Given the description of an element on the screen output the (x, y) to click on. 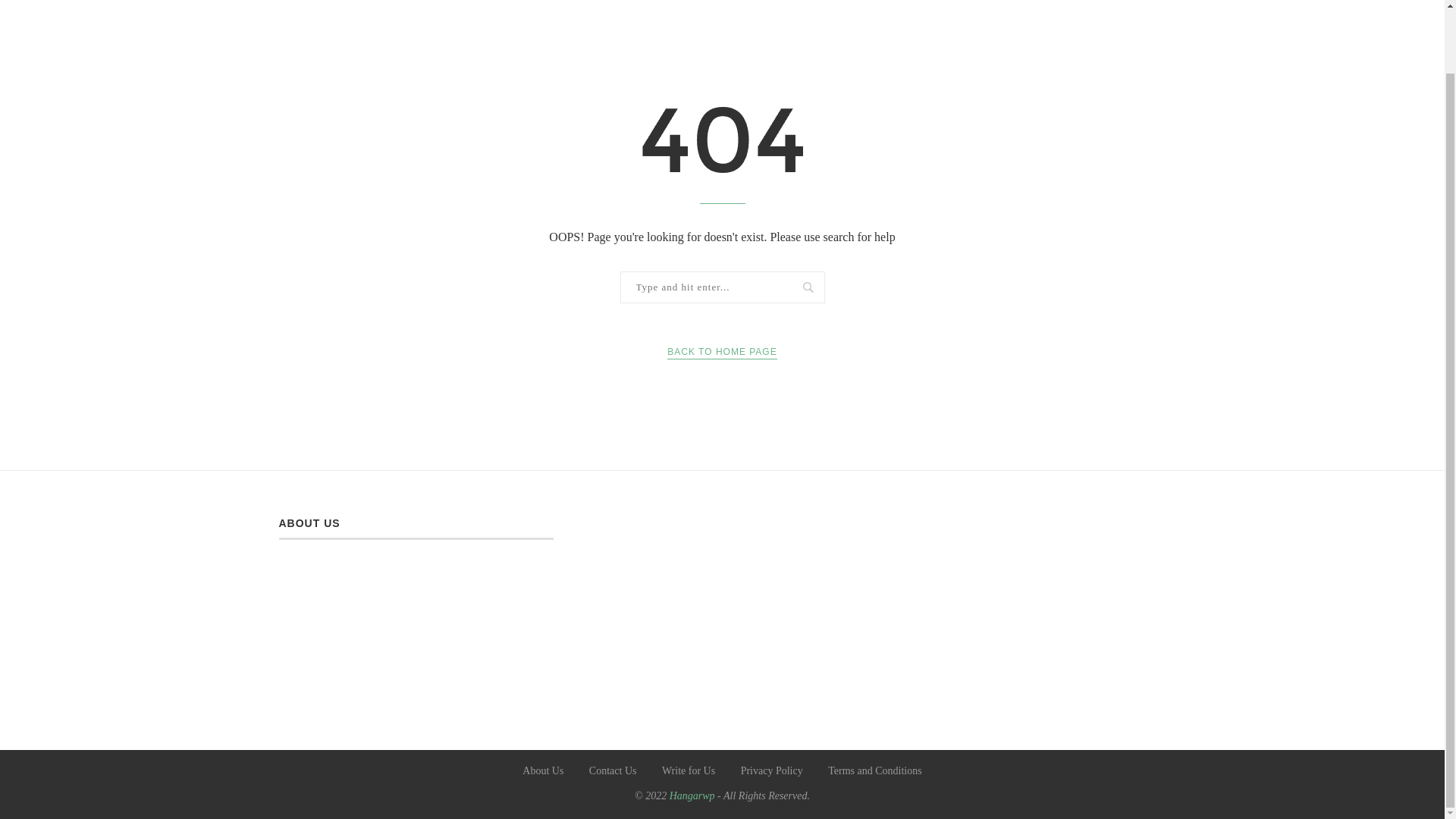
BACK TO HOME PAGE (721, 351)
